Given the description of an element on the screen output the (x, y) to click on. 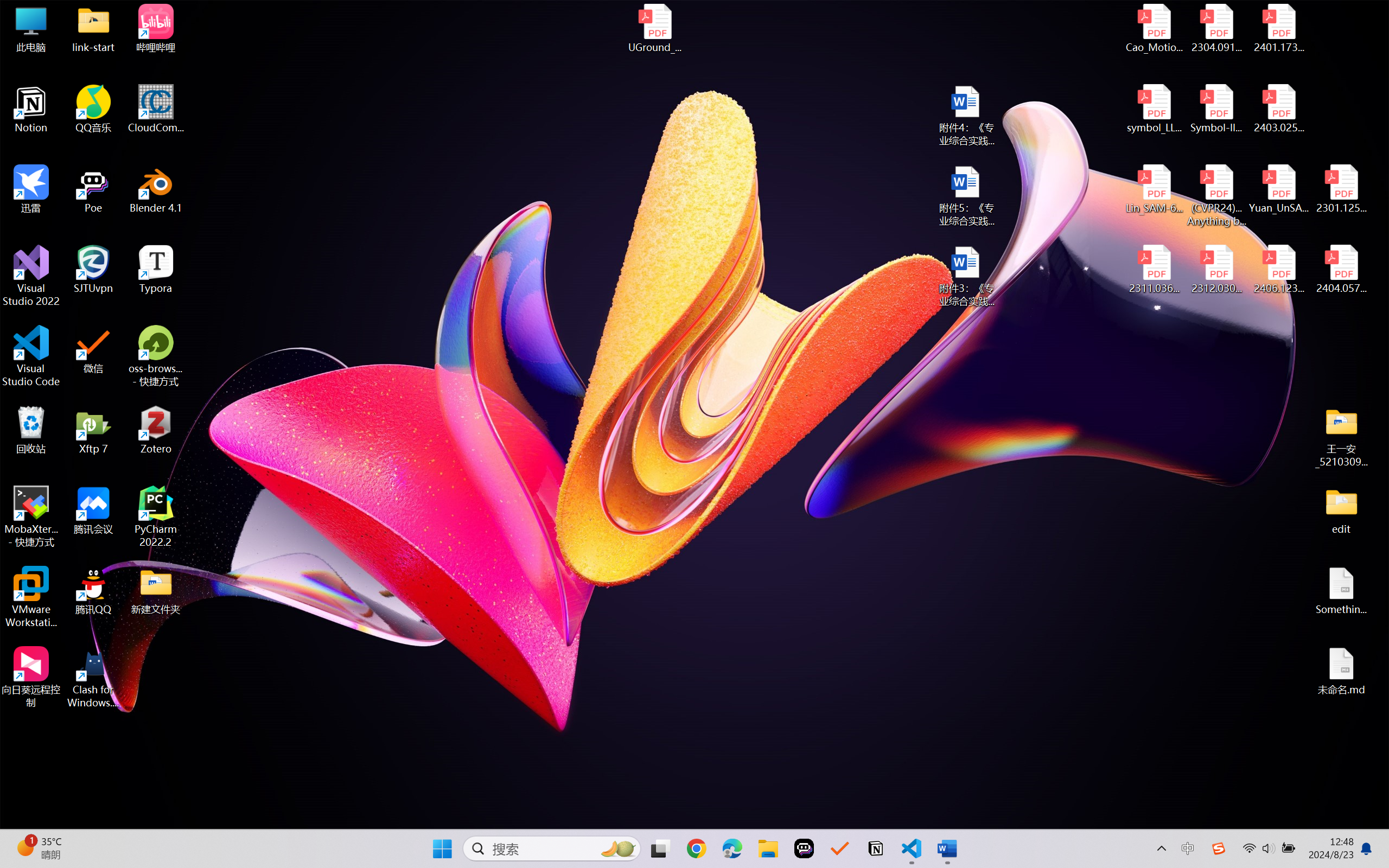
symbol_LLM.pdf (1154, 109)
edit (1340, 510)
Xftp 7 (93, 430)
2404.05719v1.pdf (1340, 269)
Symbol-llm-v2.pdf (1216, 109)
